Given the description of an element on the screen output the (x, y) to click on. 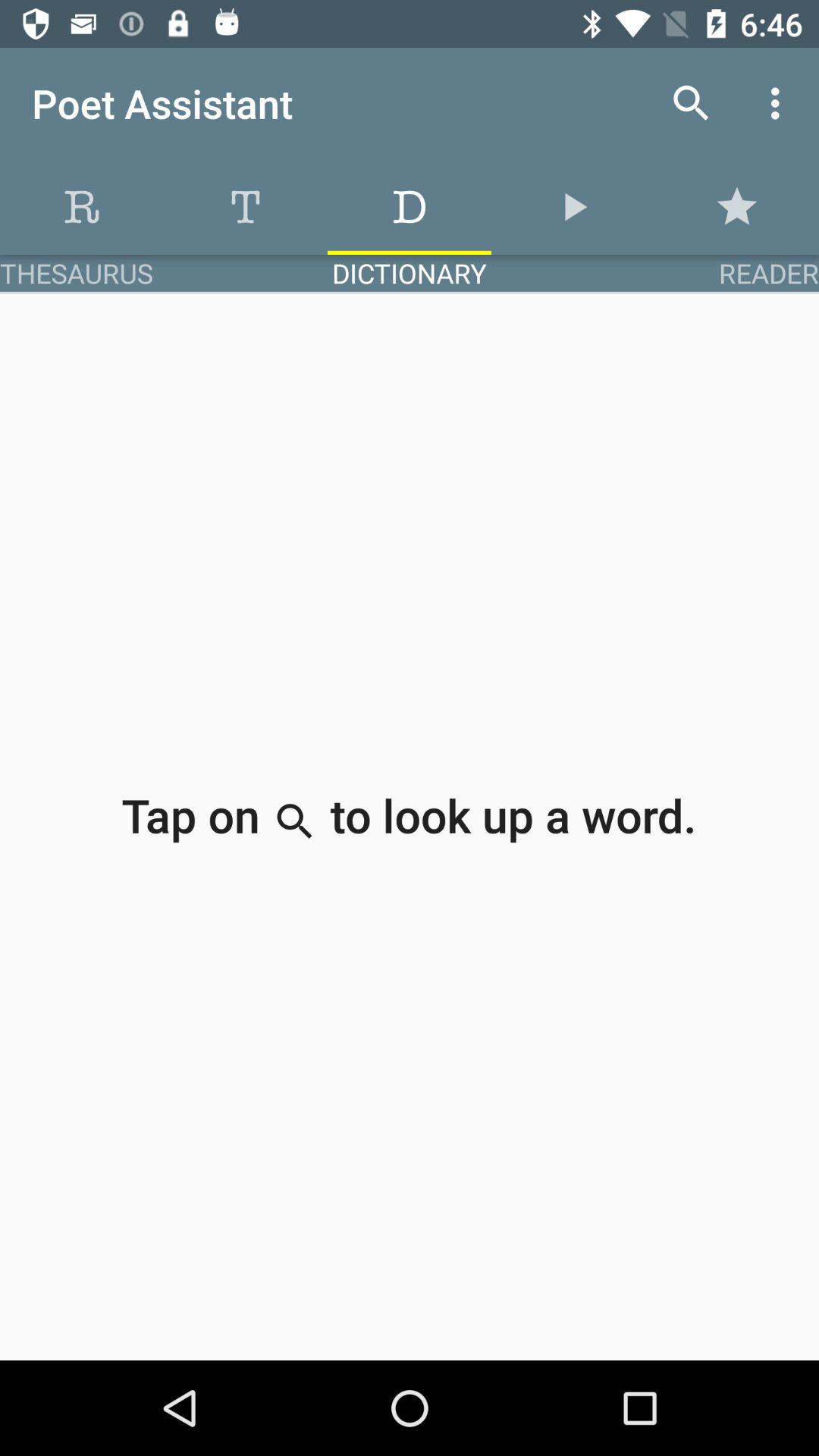
launch icon to the right of poet assistant item (691, 103)
